Given the description of an element on the screen output the (x, y) to click on. 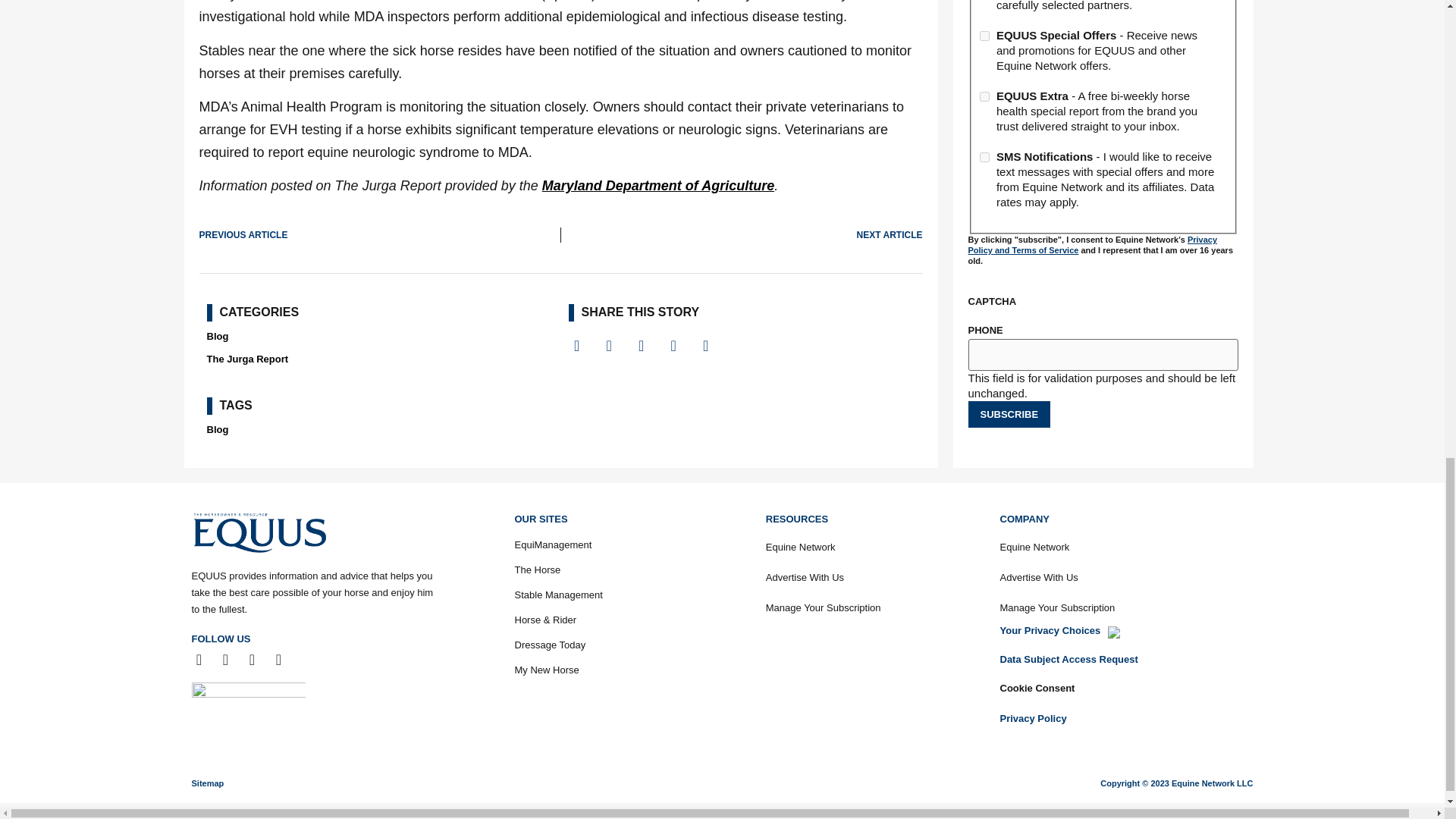
0cd2e389-c43e-4146-b3bb-59ab437fd8f4 (984, 96)
SMS Notifications (984, 157)
Subscribe (1008, 414)
591f5baa-e9c3-40bf-bf02-f5923680caa3 (984, 35)
